Given the description of an element on the screen output the (x, y) to click on. 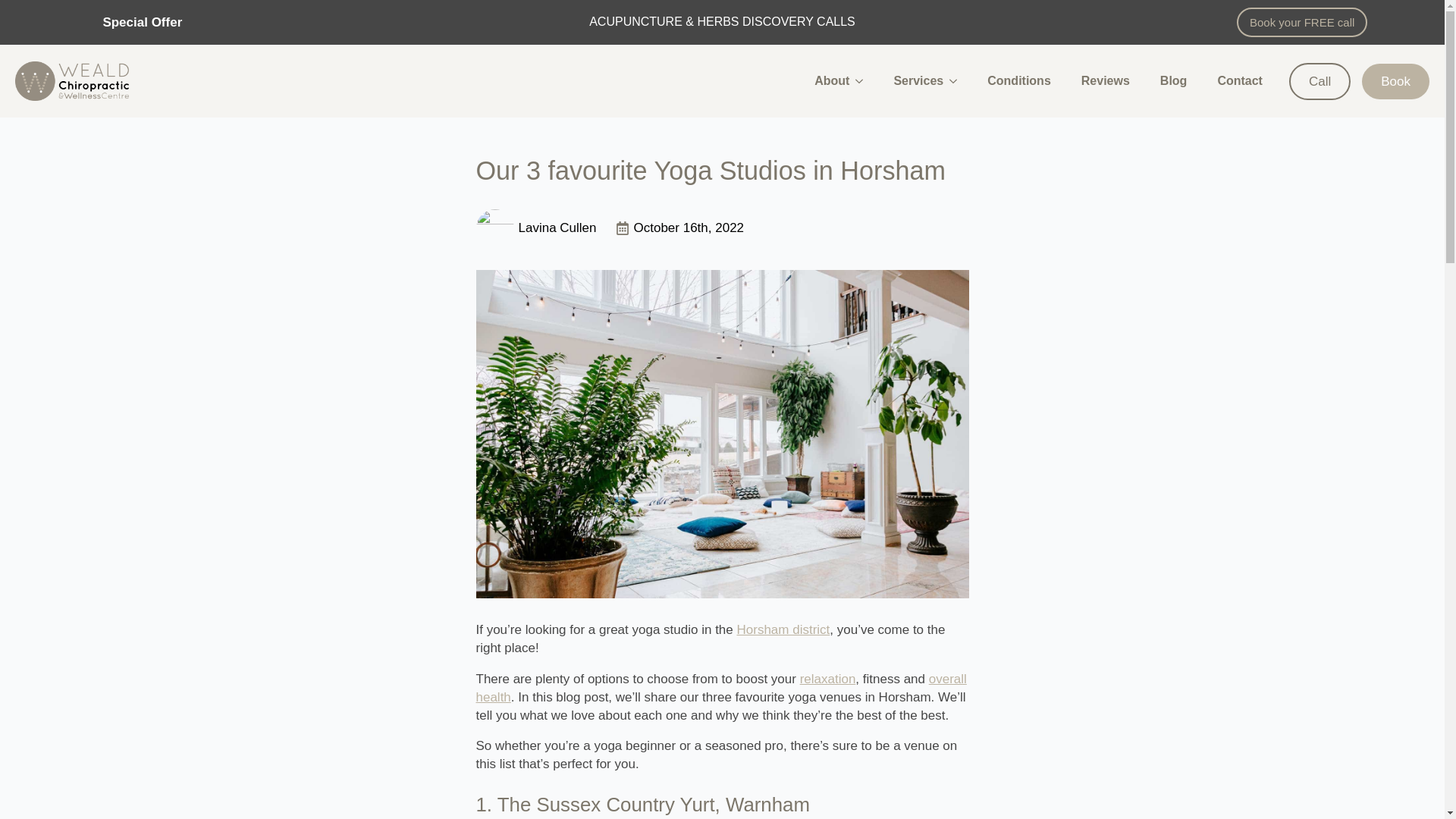
Reviews (1104, 80)
Our favourite gyms in Horsham (721, 687)
relaxation (827, 678)
Horsham district (782, 629)
Blog (1173, 80)
Conditions (1018, 80)
Call (1319, 80)
Contact (1240, 80)
About (823, 80)
Services (910, 80)
